Given the description of an element on the screen output the (x, y) to click on. 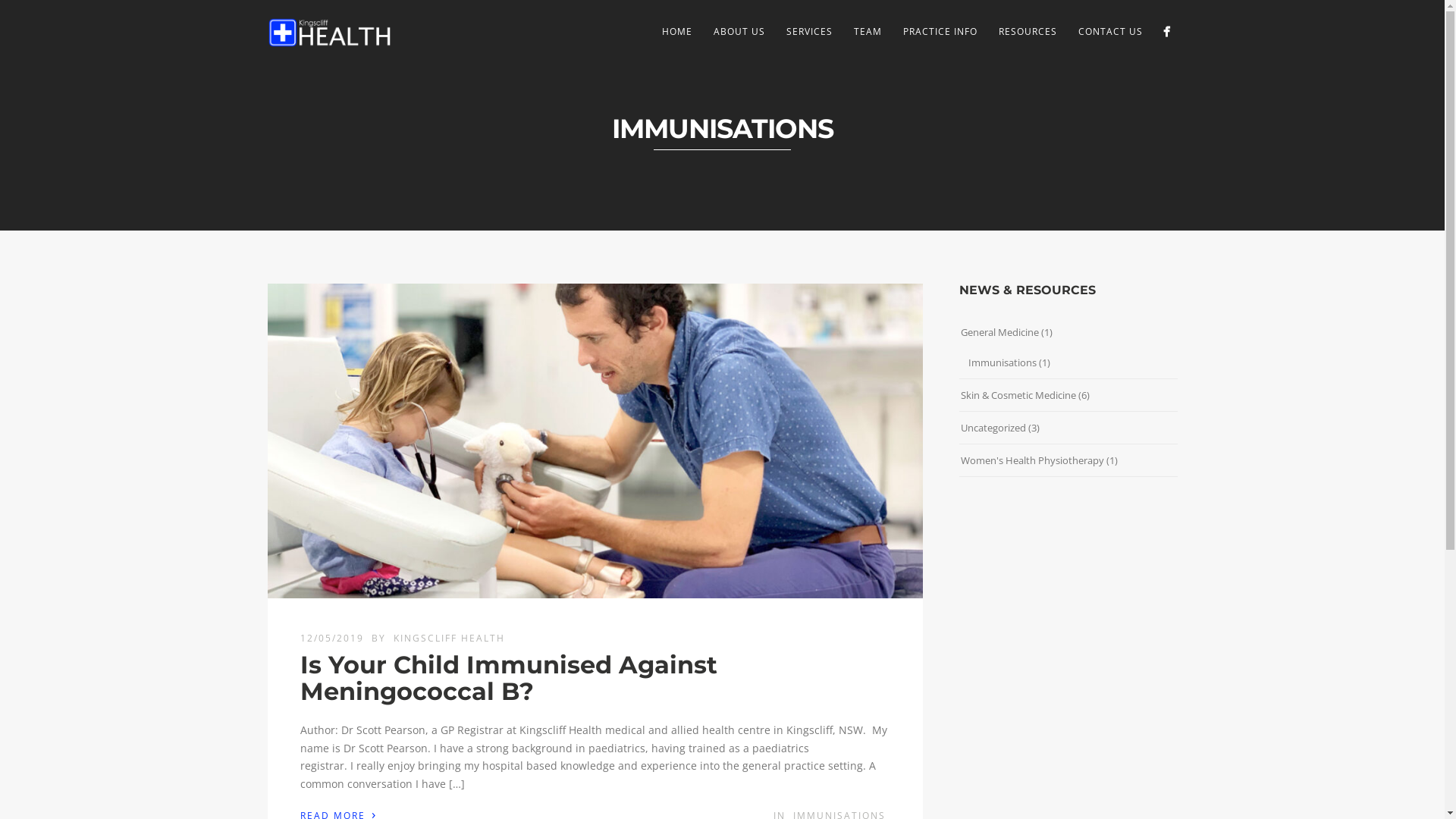
Uncategorized Element type: text (992, 427)
RESOURCES Element type: text (1026, 31)
KINGSCLIFF HEALTH Element type: text (449, 637)
Women's Health Physiotherapy Element type: text (1031, 459)
PRACTICE INFO Element type: text (939, 31)
HOME Element type: text (676, 31)
Skin & Cosmetic Medicine Element type: text (1017, 394)
ABOUT US Element type: text (738, 31)
CONTACT US Element type: text (1110, 31)
General Medicine Element type: text (999, 331)
TEAM Element type: text (867, 31)
SERVICES Element type: text (808, 31)
Is Your Child Immunised Against Meningococcal B? Element type: text (508, 677)
Immunisations Element type: text (1001, 362)
